Given the description of an element on the screen output the (x, y) to click on. 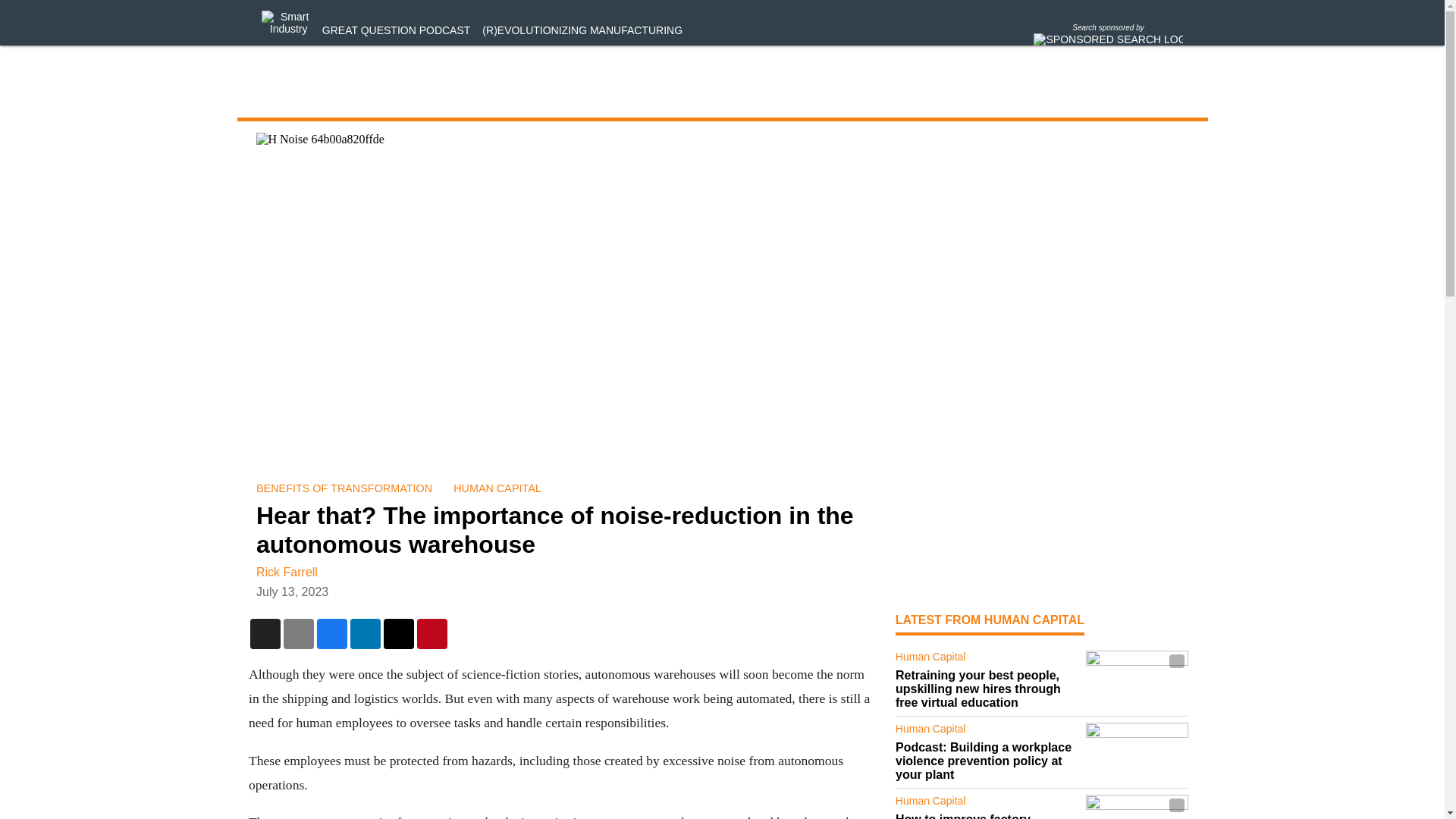
Rick Farrell (286, 571)
HUMAN CAPITAL (496, 488)
Human Capital (986, 803)
GREAT QUESTION PODCAST (395, 30)
Human Capital (986, 659)
BENEFITS OF TRANSFORMATION (344, 488)
Human Capital (986, 731)
